Given the description of an element on the screen output the (x, y) to click on. 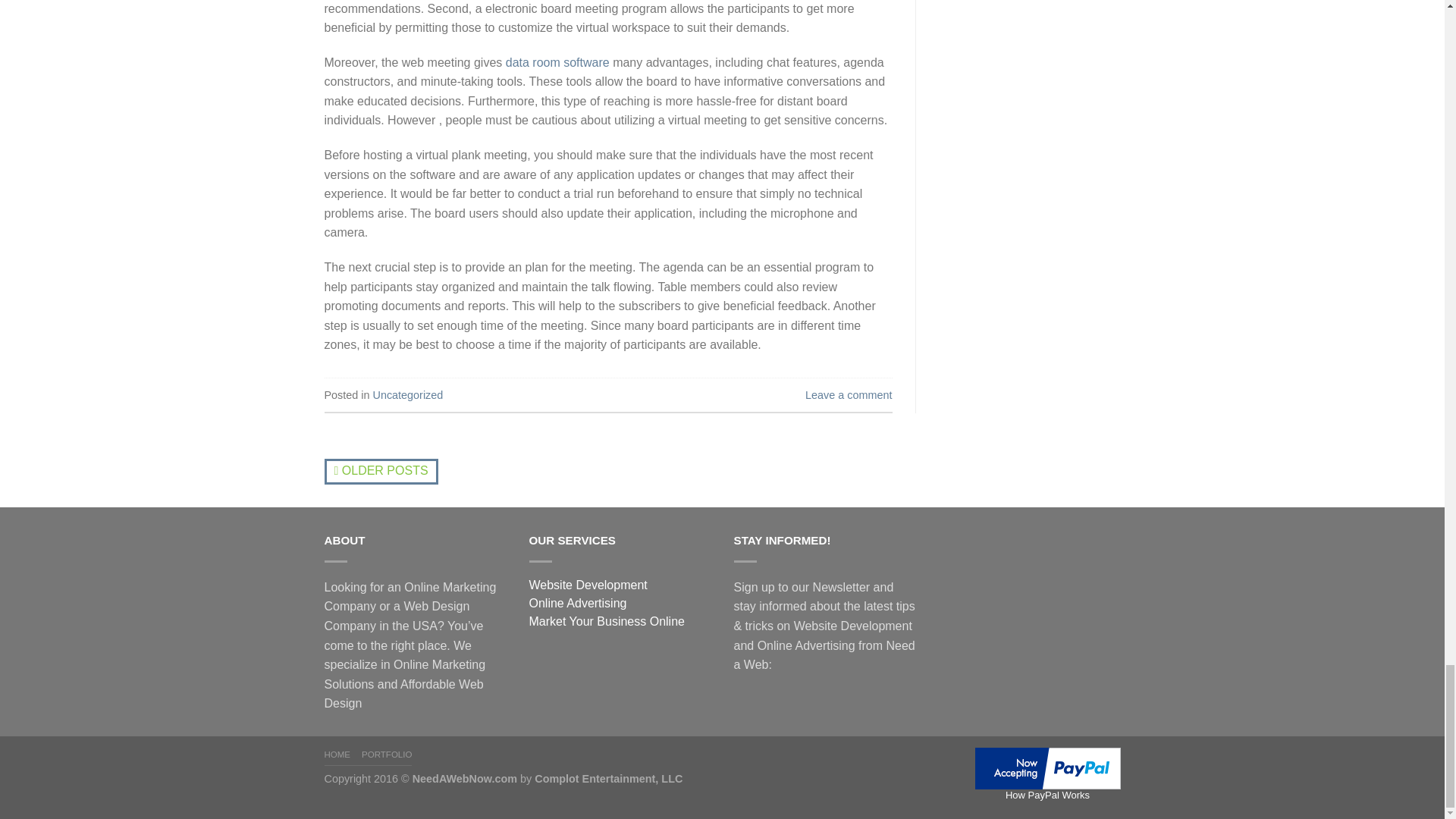
How PayPal Works (1048, 767)
Uncategorized (408, 395)
data room software (557, 62)
